Given the description of an element on the screen output the (x, y) to click on. 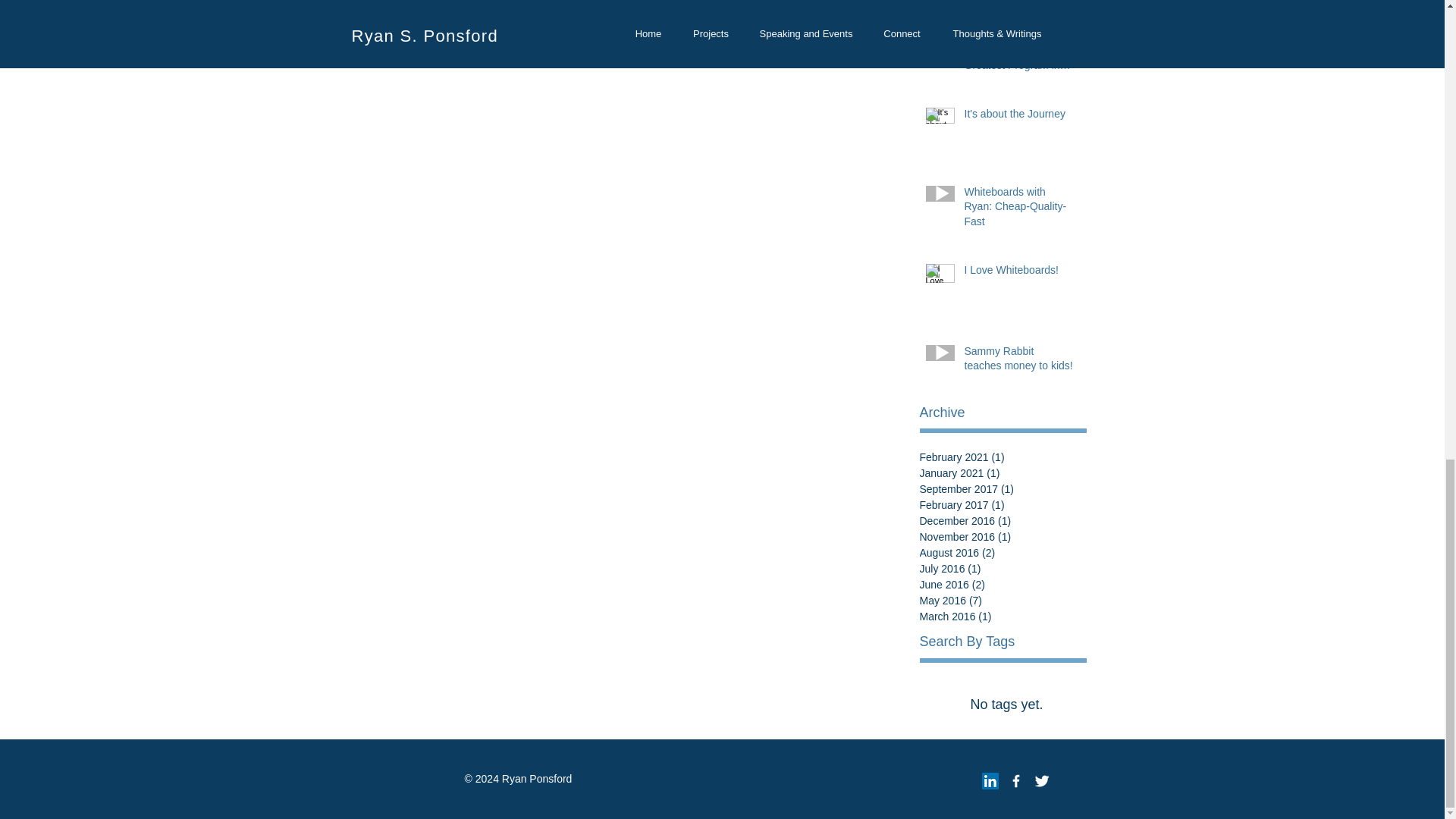
Sammy Rabbit teaches money to kids! (1018, 361)
It's about the Journey (1018, 117)
I Love Whiteboards! (1018, 273)
Whiteboards with Ryan: Cheap-Quality-Fast (1018, 210)
